Given the description of an element on the screen output the (x, y) to click on. 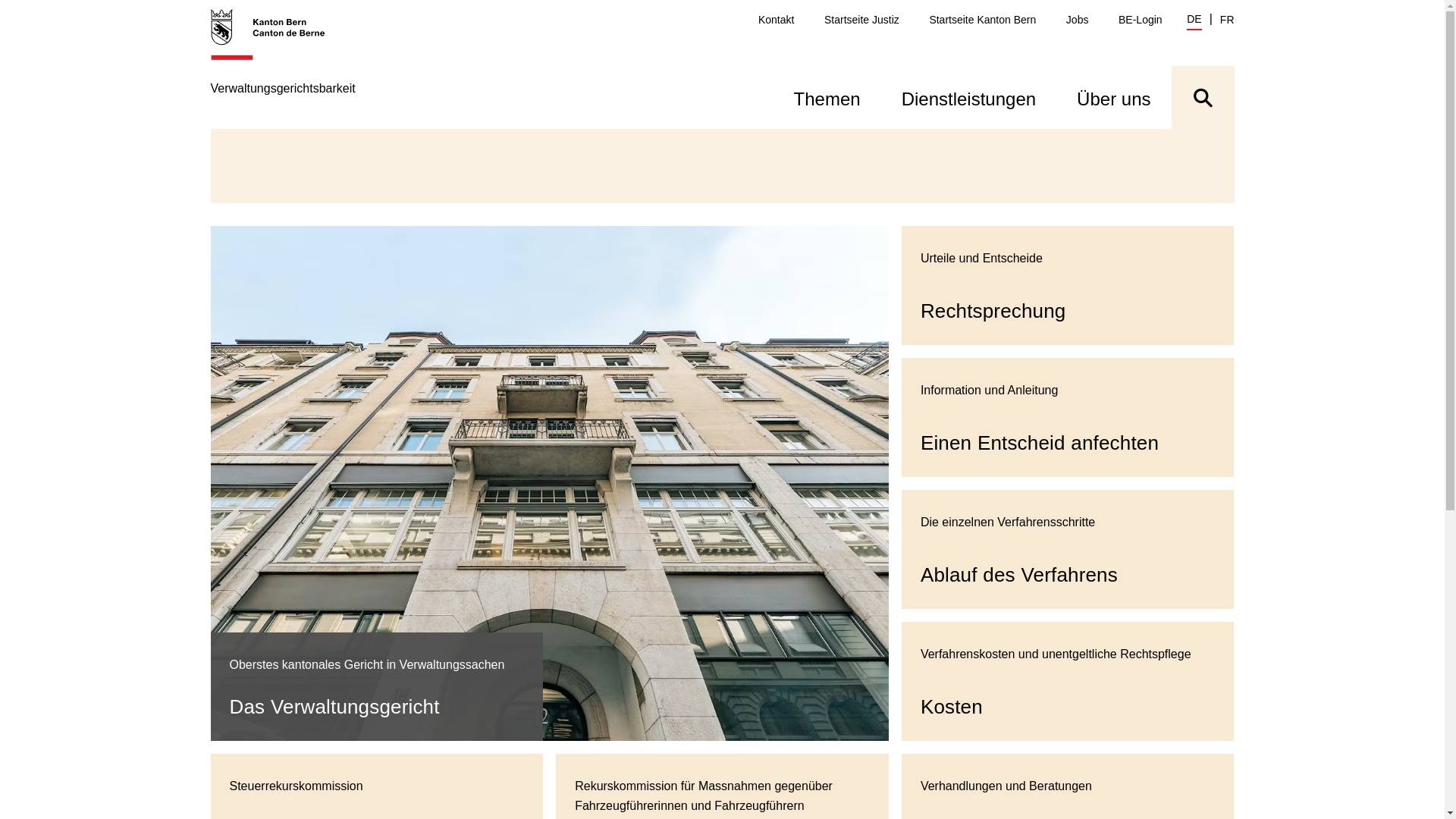
DE Element type: text (1193, 21)
Verwaltungsgerichtsbarkeit Element type: text (282, 68)
Einen Entscheid anfechten
Information und Anleitung Element type: text (1067, 416)
Startseite Justiz Element type: text (861, 19)
FR Element type: text (1227, 19)
Ablauf des Verfahrens
Die einzelnen Verfahrensschritte Element type: text (1067, 548)
Startseite Kanton Bern Element type: text (981, 19)
Kosten
Verfahrenskosten und unentgeltliche Rechtspflege Element type: text (1067, 680)
Kontakt Element type: text (775, 19)
Jobs Element type: text (1077, 19)
Themen Element type: text (827, 96)
Suche ein- oder ausblenden Element type: text (1201, 96)
BE-Login Element type: text (1140, 19)
Dienstleistungen Element type: text (968, 96)
Rechtsprechung
Urteile und Entscheide Element type: text (1067, 285)
